Given the description of an element on the screen output the (x, y) to click on. 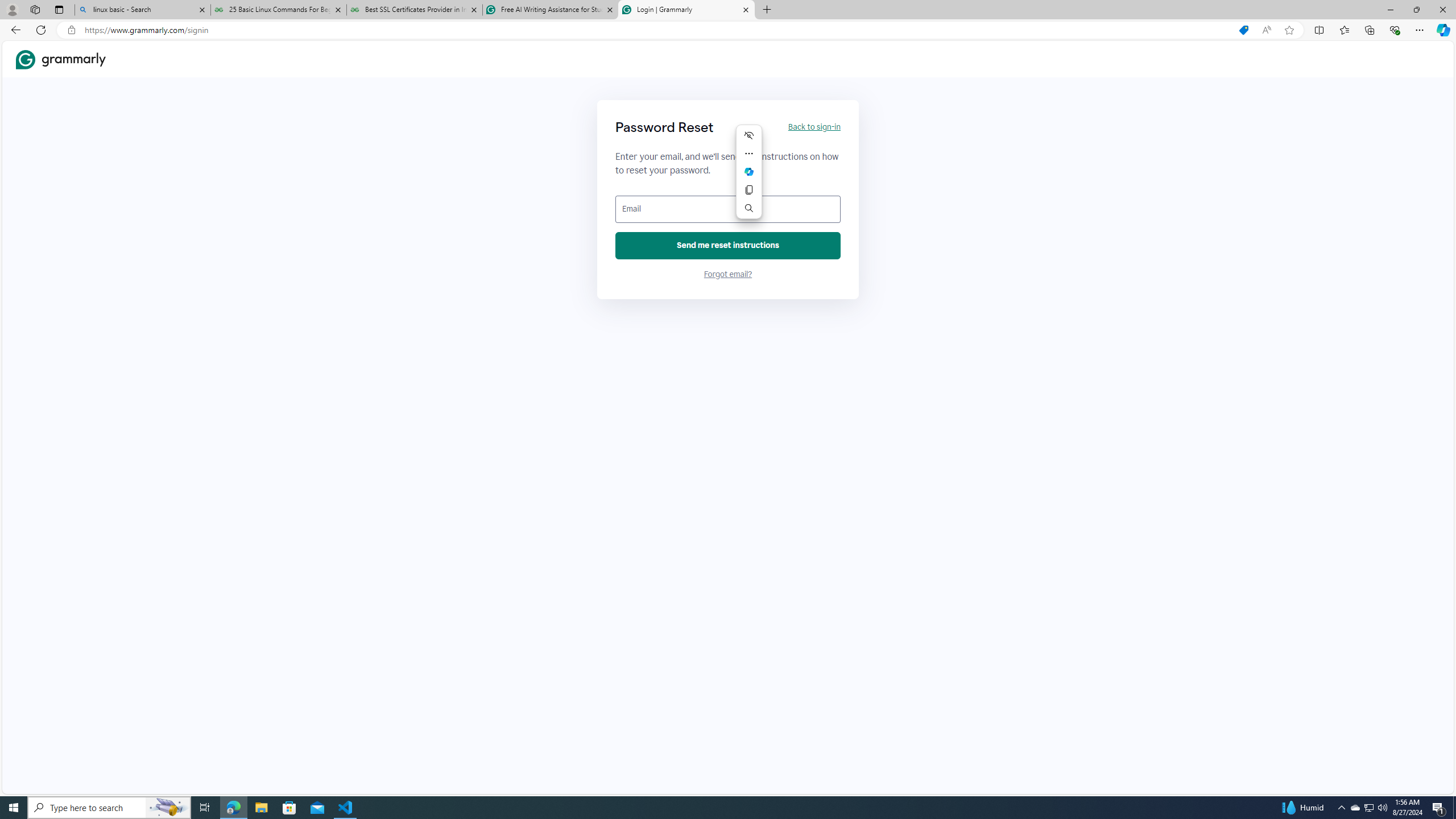
Copy (748, 189)
linux basic - Search (142, 9)
Best SSL Certificates Provider in India - GeeksforGeeks (414, 9)
Grammarly Home (61, 59)
Hide menu (748, 135)
Free AI Writing Assistance for Students | Grammarly (550, 9)
Email (727, 209)
More actions (748, 153)
Ask Copilot (748, 171)
Login | Grammarly (685, 9)
Mini menu on text selection (748, 178)
